Given the description of an element on the screen output the (x, y) to click on. 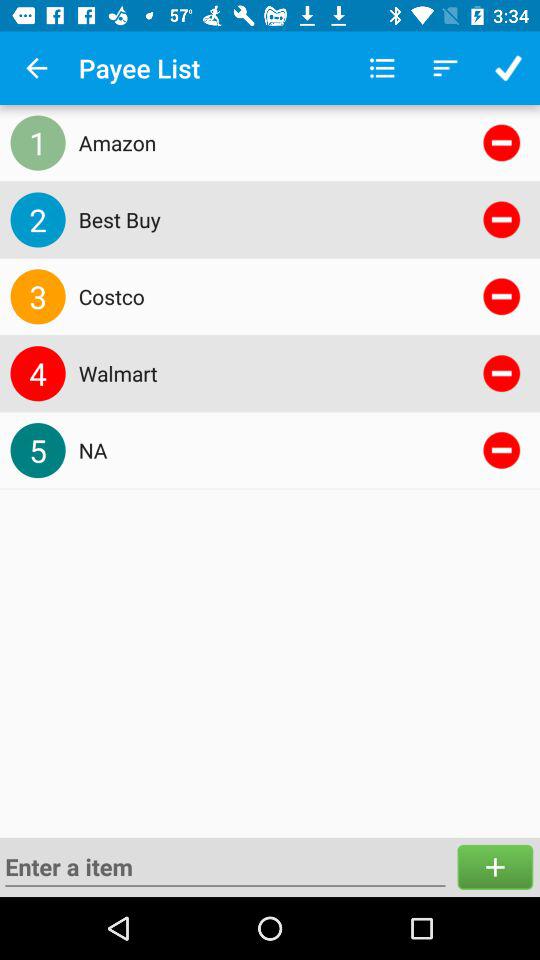
press the icon above the amazon (381, 67)
